Given the description of an element on the screen output the (x, y) to click on. 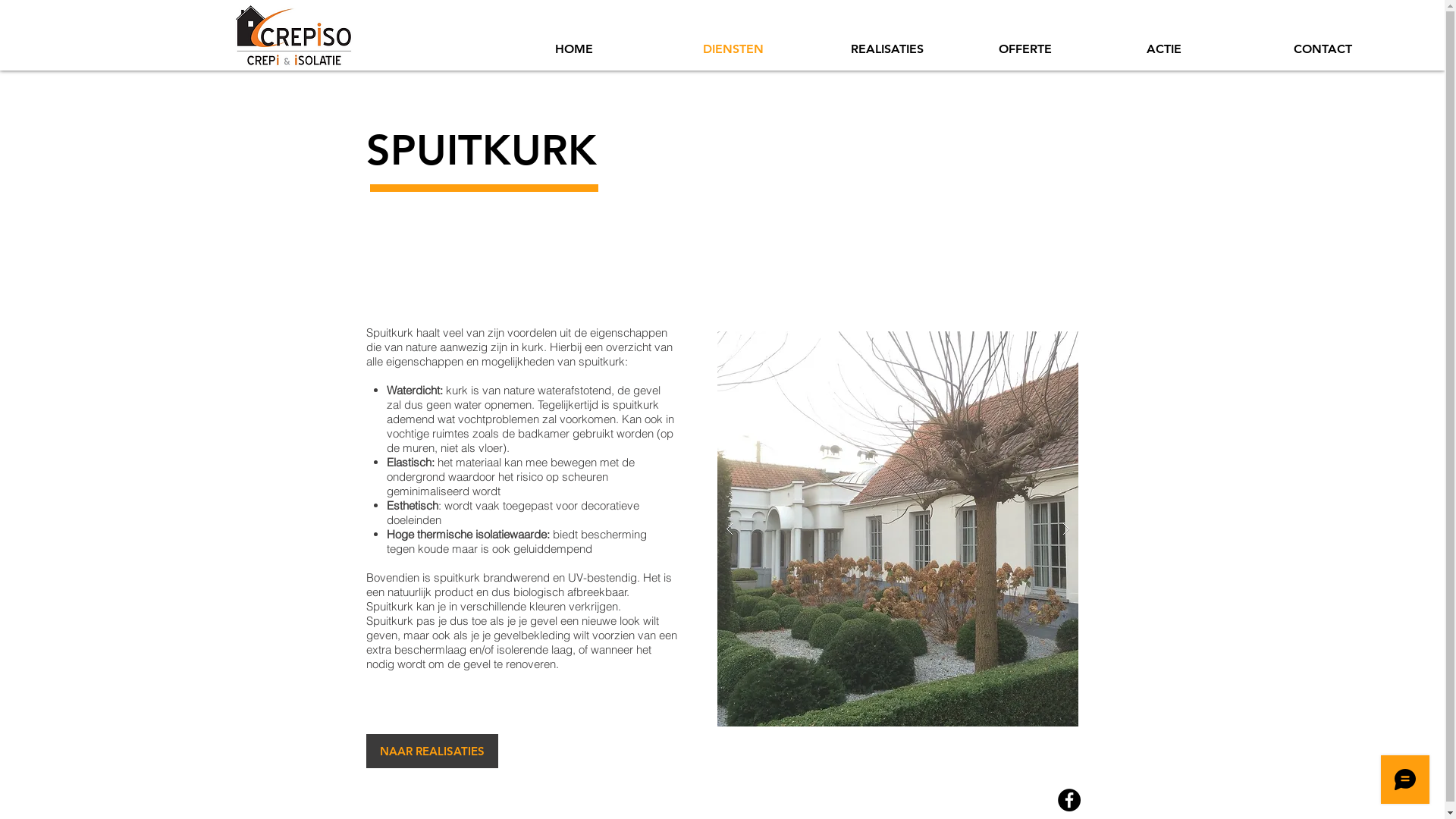
CONTACT Element type: text (1355, 48)
HOME Element type: text (617, 48)
REALISATIES Element type: text (913, 48)
OFFERTE Element type: text (1061, 48)
DIENSTEN Element type: text (765, 48)
NAAR REALISATIES Element type: text (431, 751)
ACTIE Element type: text (1208, 48)
